Given the description of an element on the screen output the (x, y) to click on. 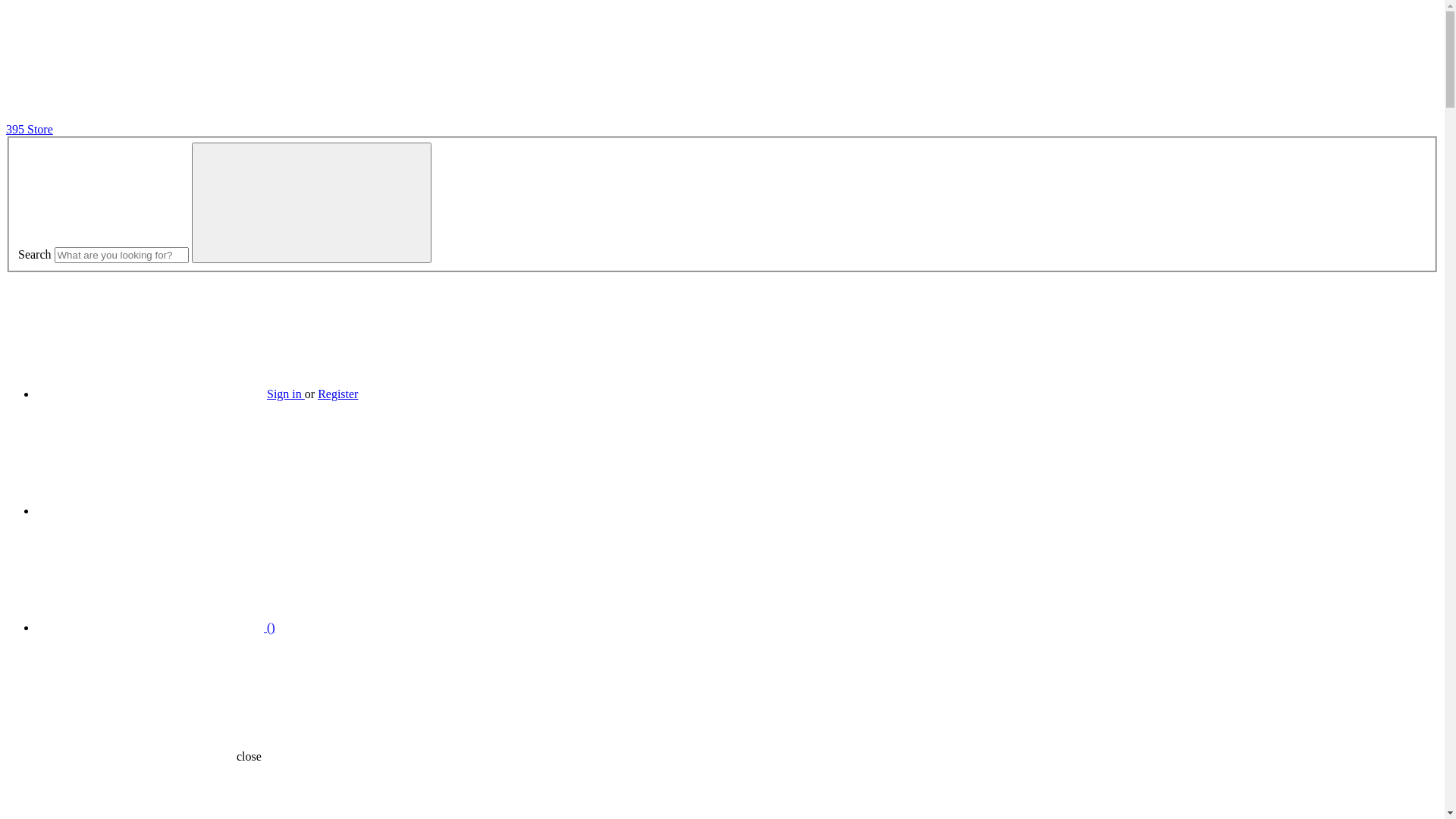
395 Store Element type: text (29, 128)
Sign in Element type: text (285, 393)
() Element type: text (155, 627)
Register Element type: text (337, 393)
